Given the description of an element on the screen output the (x, y) to click on. 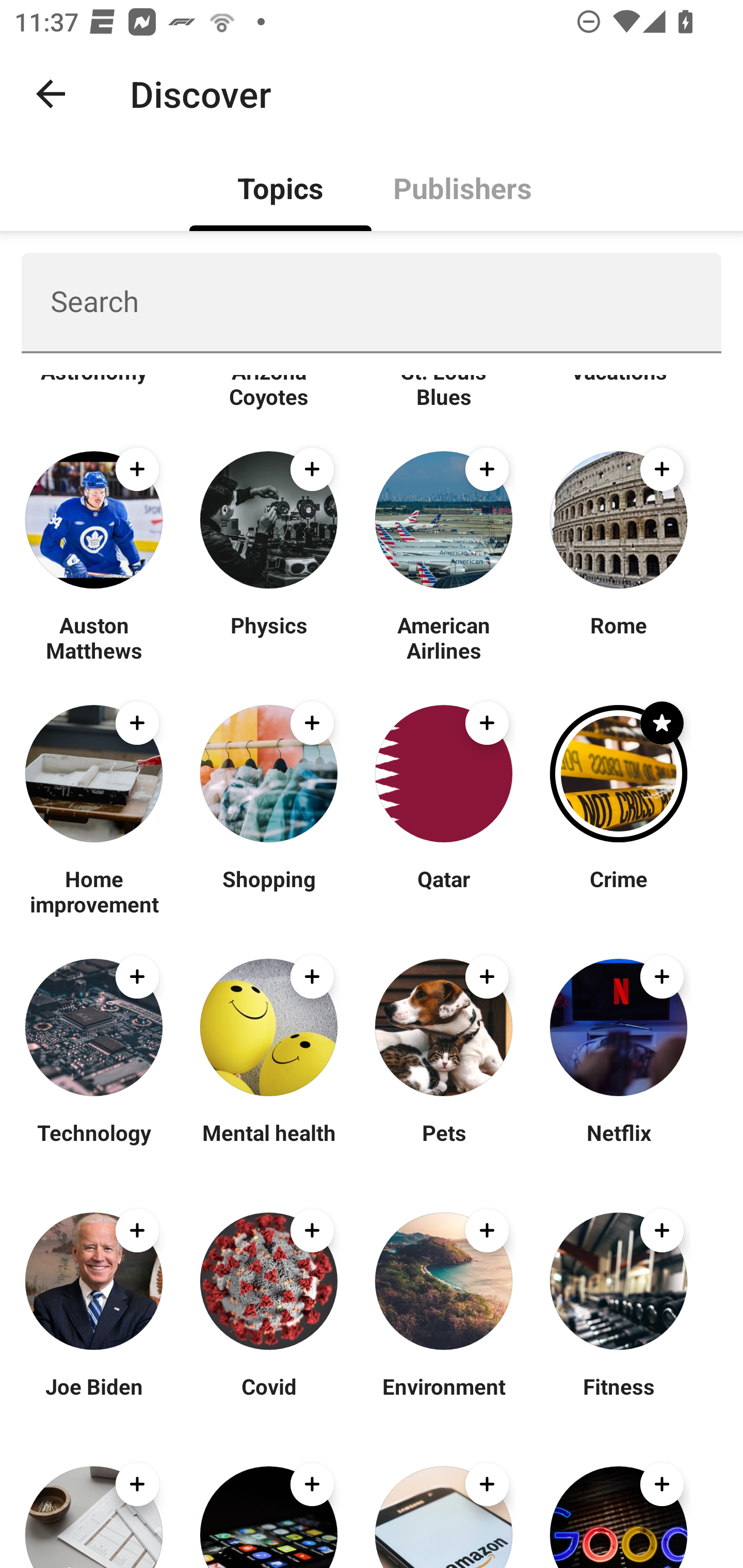
Publishers (462, 187)
Search (371, 302)
Auston Matthews (93, 636)
Physics (268, 636)
American Airlines (443, 636)
Rome (618, 636)
Home improvement (93, 890)
Shopping (268, 890)
Qatar (443, 890)
Crime (618, 890)
Technology (93, 1144)
Mental health (268, 1144)
Pets (443, 1144)
Netflix (618, 1144)
Joe Biden (93, 1399)
Covid (268, 1399)
Environment (443, 1399)
Fitness (618, 1399)
